Given the description of an element on the screen output the (x, y) to click on. 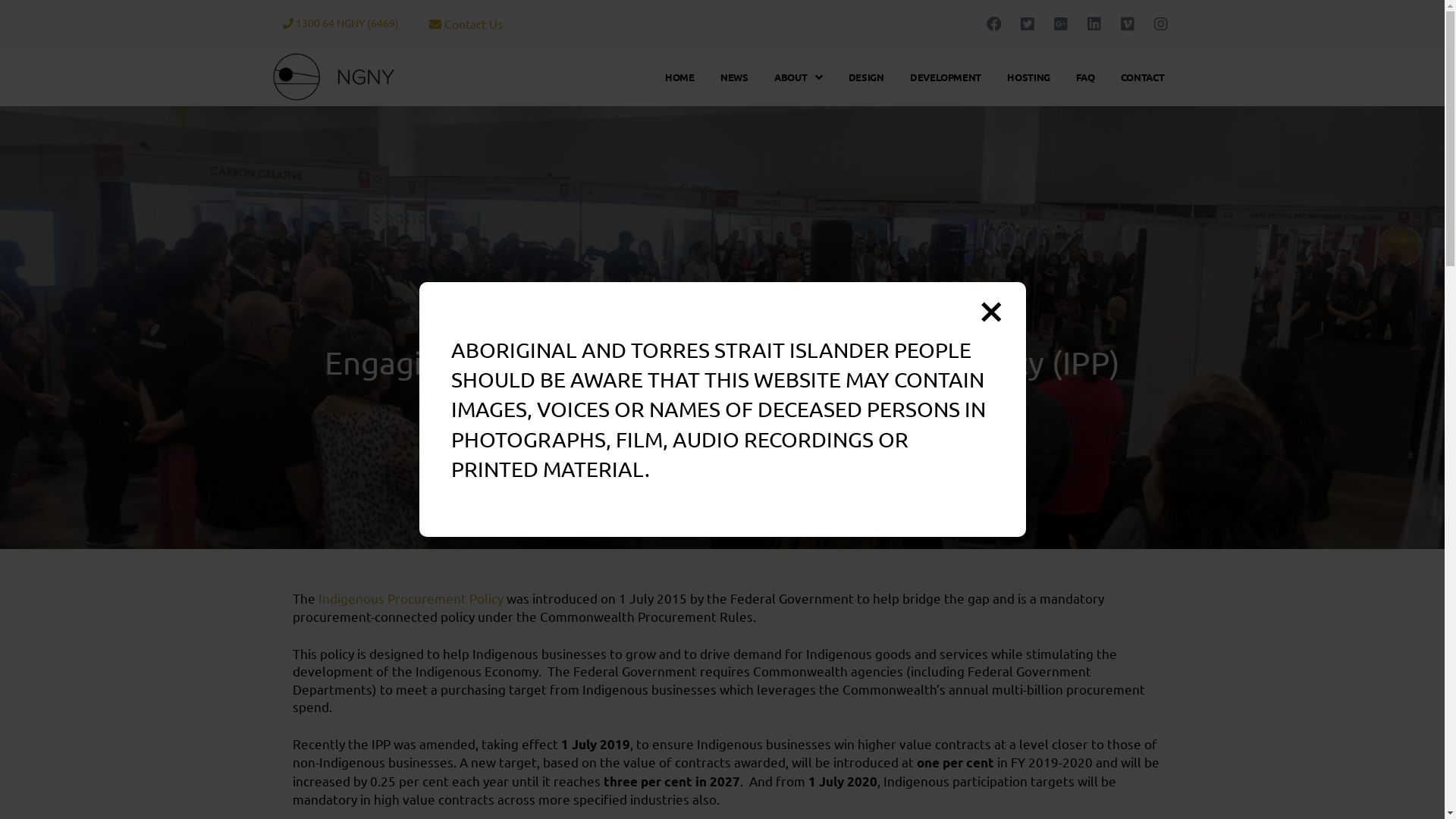
DESIGN Element type: text (866, 76)
HOSTING Element type: text (1028, 76)
Contact Us Element type: text (465, 23)
Indigenous Procurement Policy Element type: text (409, 597)
NEWS Element type: text (734, 76)
DEVELOPMENT Element type: text (945, 76)
FAQ Element type: text (1085, 76)
1300 64 NGNY (6469) Element type: text (340, 22)
CONTACT Element type: text (1142, 76)
HOME Element type: text (679, 76)
ABOUT Element type: text (798, 76)
